Given the description of an element on the screen output the (x, y) to click on. 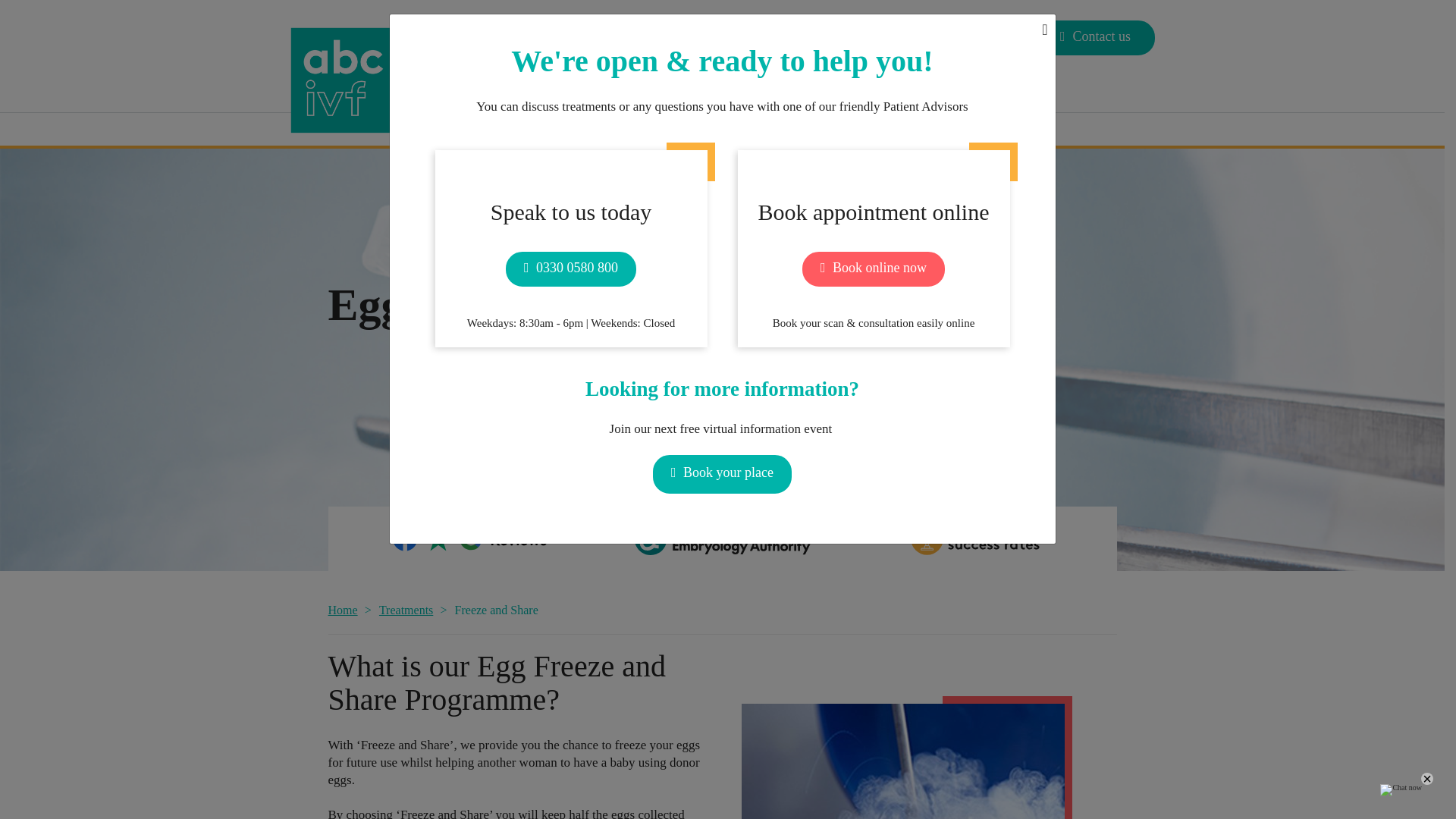
0330 0580 800 (963, 37)
Treatments (554, 91)
Why abc ivf (475, 91)
Why abc ivf (475, 91)
Treatments (554, 91)
Prices (618, 91)
Success rates (686, 91)
Contact us (1094, 37)
Book appointment online (795, 37)
